Given the description of an element on the screen output the (x, y) to click on. 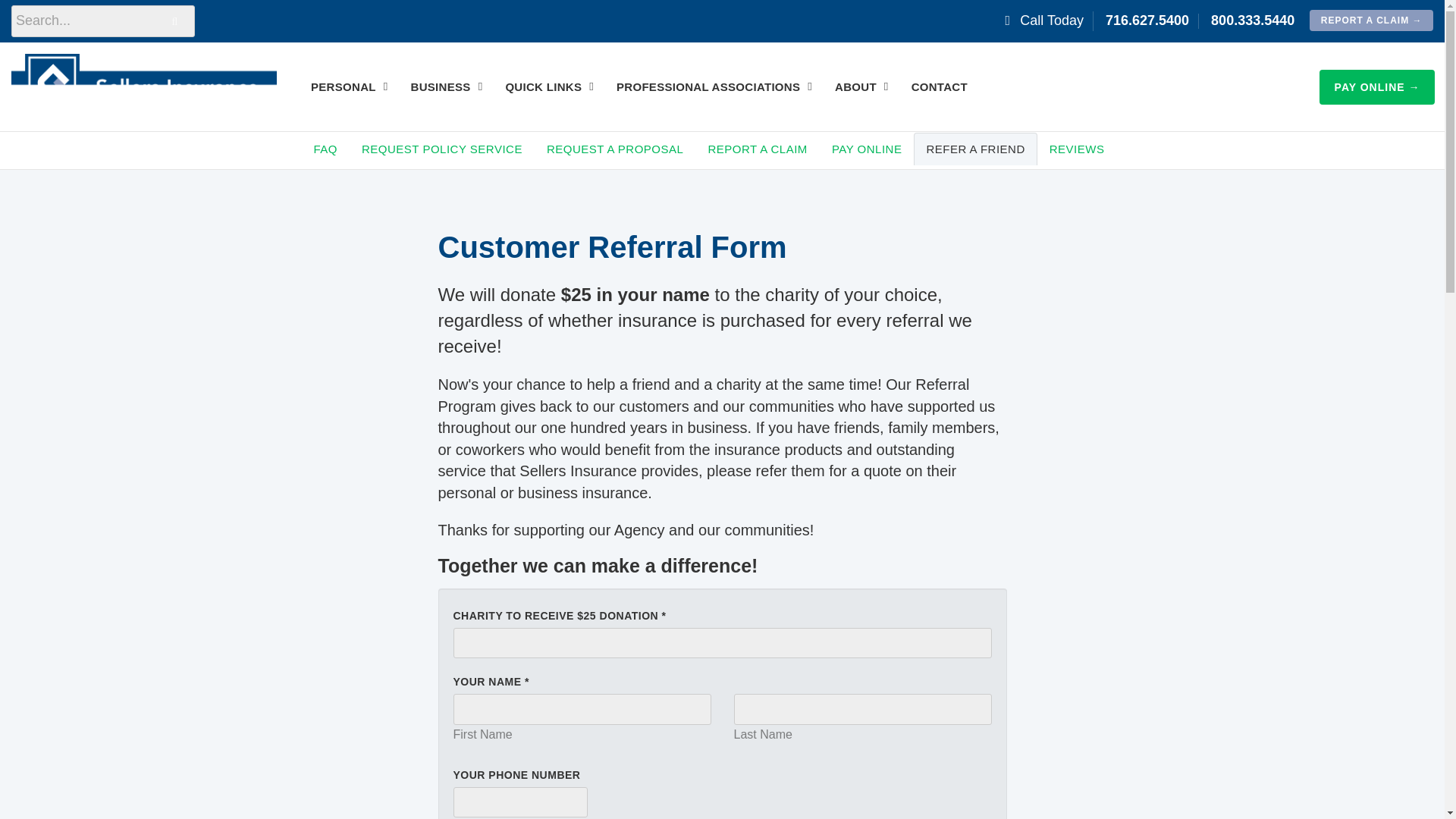
716.627.5400 (1147, 20)
PERSONAL (348, 86)
BUSINESS (446, 86)
QUICK LINKS (549, 86)
Call Today (1040, 20)
800.333.5440 (1252, 20)
